Given the description of an element on the screen output the (x, y) to click on. 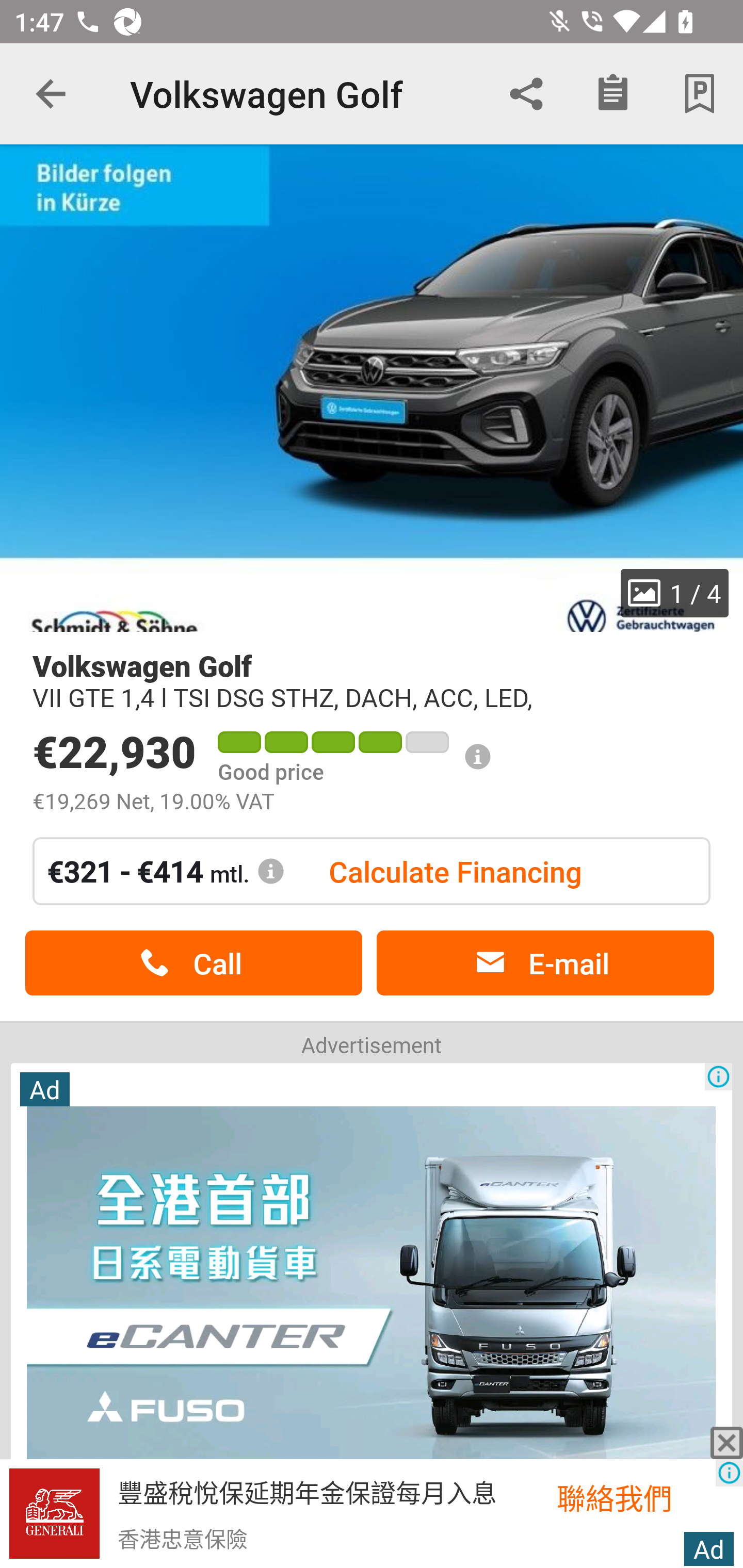
Navigate up (50, 93)
Share via (525, 93)
Checklist (612, 93)
Park (699, 93)
Calculate Financing (454, 870)
€321 - €414 mtl. (165, 870)
Call (193, 963)
E-mail (545, 963)
Ad 全港首部日系電動貨車 eCanter FUSO 三菱貨車 Ad Choices Icon (371, 1313)
Ad Choices Icon (718, 1076)
豐盛稅悅保延期年金保證每月入息 香港忠意保險 聯絡我們 Ad Ad Choices Icon (371, 1513)
Ad Choices Icon (729, 1472)
聯絡我們 (635, 1496)
豐盛稅悅保延期年金保證每月入息 (307, 1490)
香港忠意保險 (182, 1537)
